Given the description of an element on the screen output the (x, y) to click on. 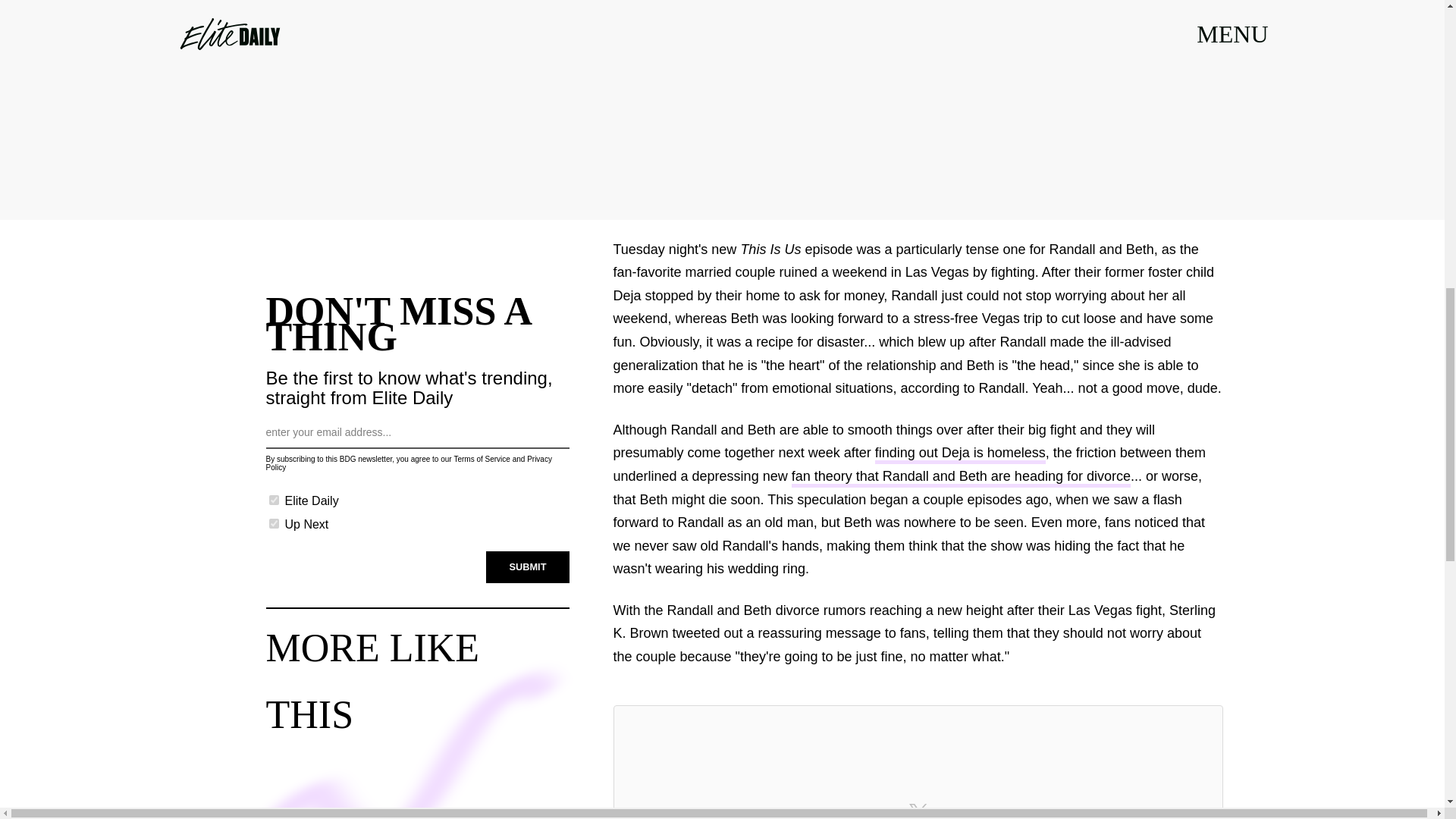
fan theory that Randall and Beth are heading for divorce (961, 477)
SUBMIT (527, 567)
Terms of Service (480, 459)
finding out Deja is homeless (960, 454)
Privacy Policy (407, 463)
